Given the description of an element on the screen output the (x, y) to click on. 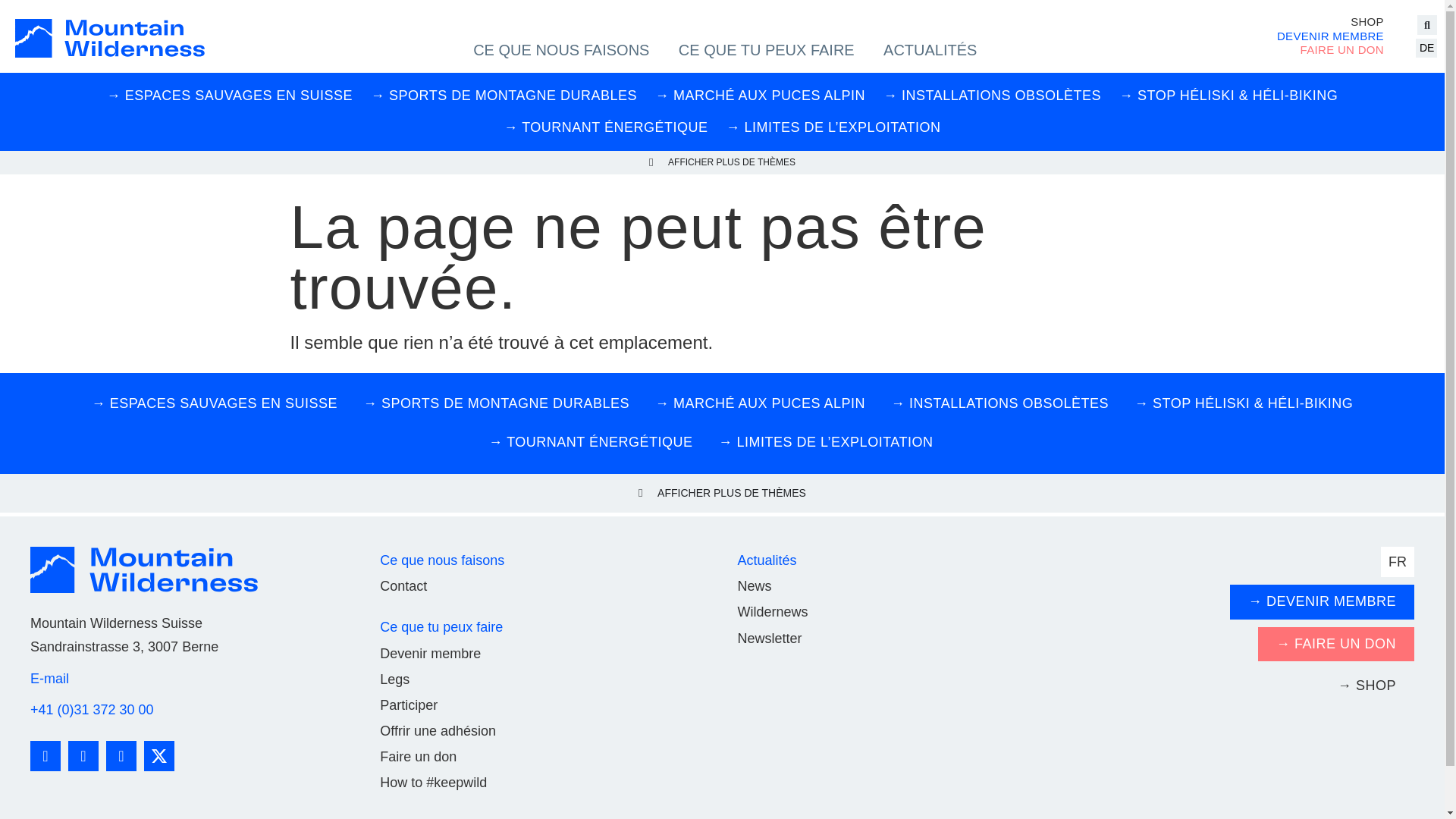
Participer Element type: text (408, 704)
SHOP Element type: text (1330, 22)
CE QUE NOUS FAISONS Element type: text (561, 49)
FR Element type: text (1397, 561)
+41 (0)31 372 30 00 Element type: text (91, 709)
Wildernews Element type: text (772, 611)
Ce que nous faisons Element type: text (441, 559)
Legs Element type: text (394, 679)
Ce que tu peux faire Element type: text (440, 626)
Faire un don Element type: text (417, 756)
News Element type: text (754, 585)
Newsletter Element type: text (769, 638)
E-mail Element type: text (49, 678)
How to #keepwild Element type: text (432, 782)
CE QUE TU PEUX FAIRE Element type: text (766, 49)
Devenir membre Element type: text (429, 653)
FAIRE UN DON Element type: text (1330, 50)
Contact Element type: text (402, 585)
DEVENIR MEMBRE Element type: text (1330, 35)
